Given the description of an element on the screen output the (x, y) to click on. 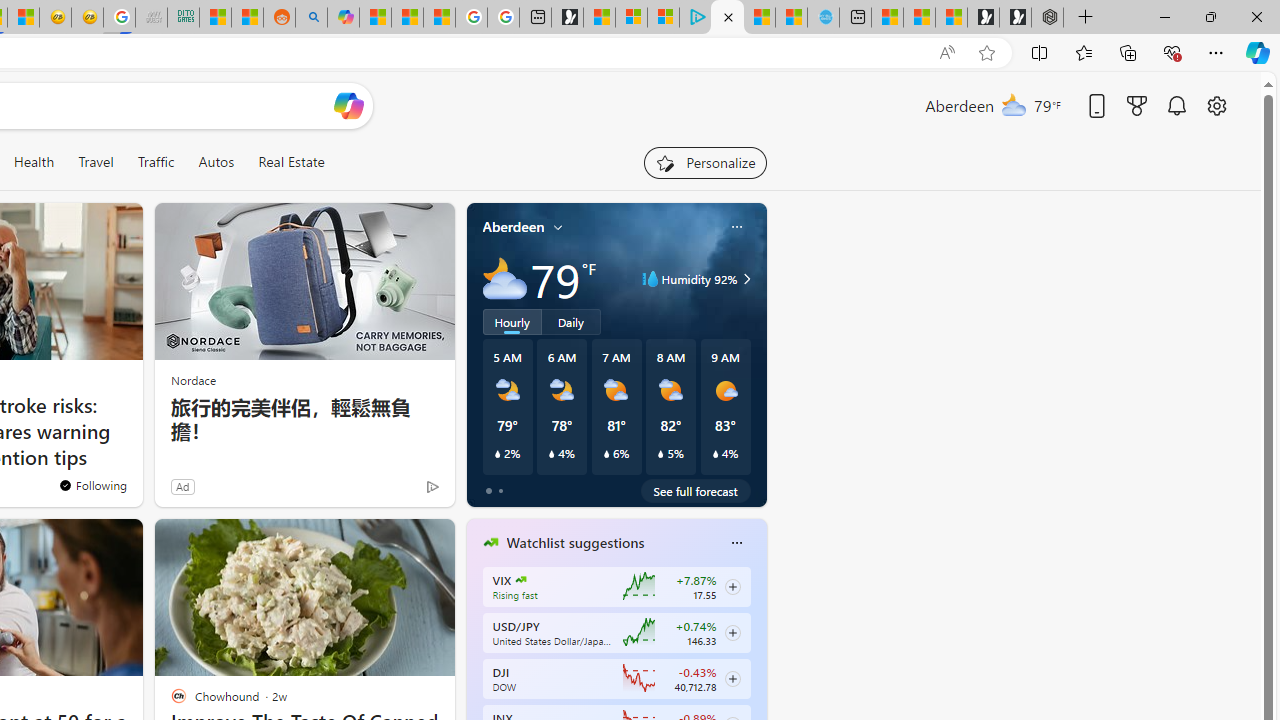
Class: weather-arrow-glyph (746, 278)
Daily (571, 321)
